Given the description of an element on the screen output the (x, y) to click on. 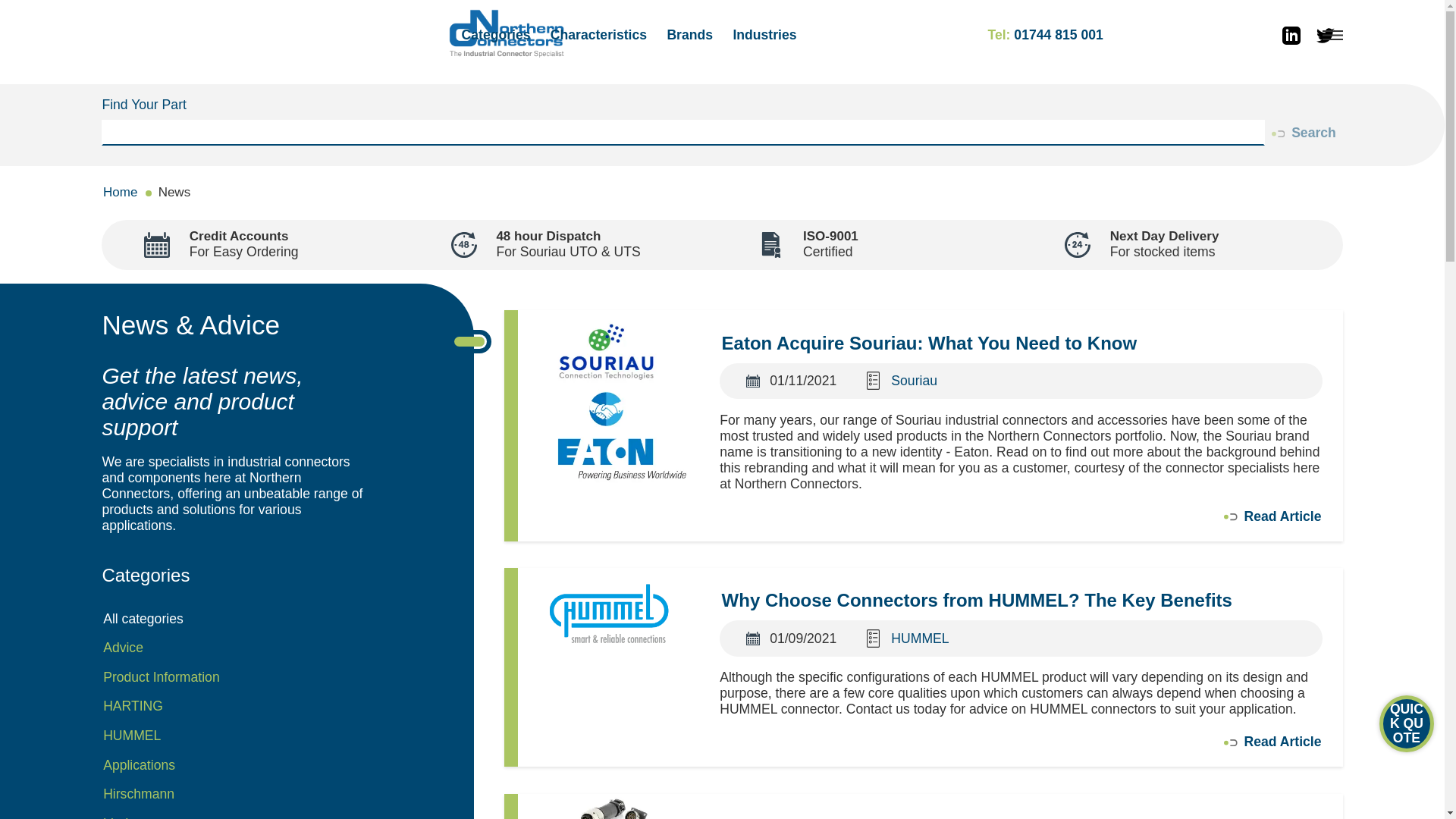
Brands (689, 34)
Categories (496, 34)
Industries (764, 34)
Characteristics (598, 34)
